Given the description of an element on the screen output the (x, y) to click on. 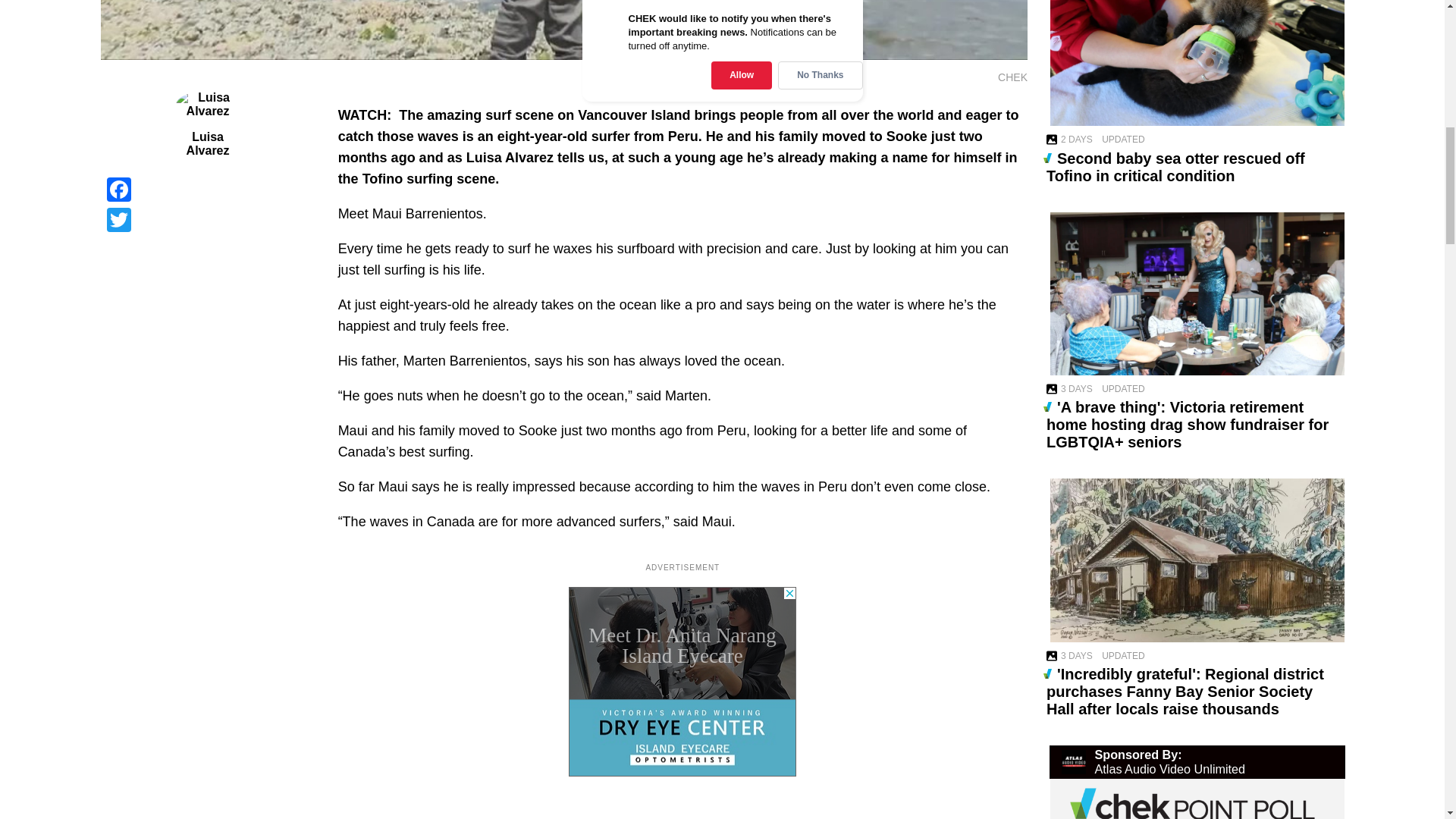
3rd party ad content (682, 681)
Facebook (207, 189)
Twitter (207, 219)
